Given the description of an element on the screen output the (x, y) to click on. 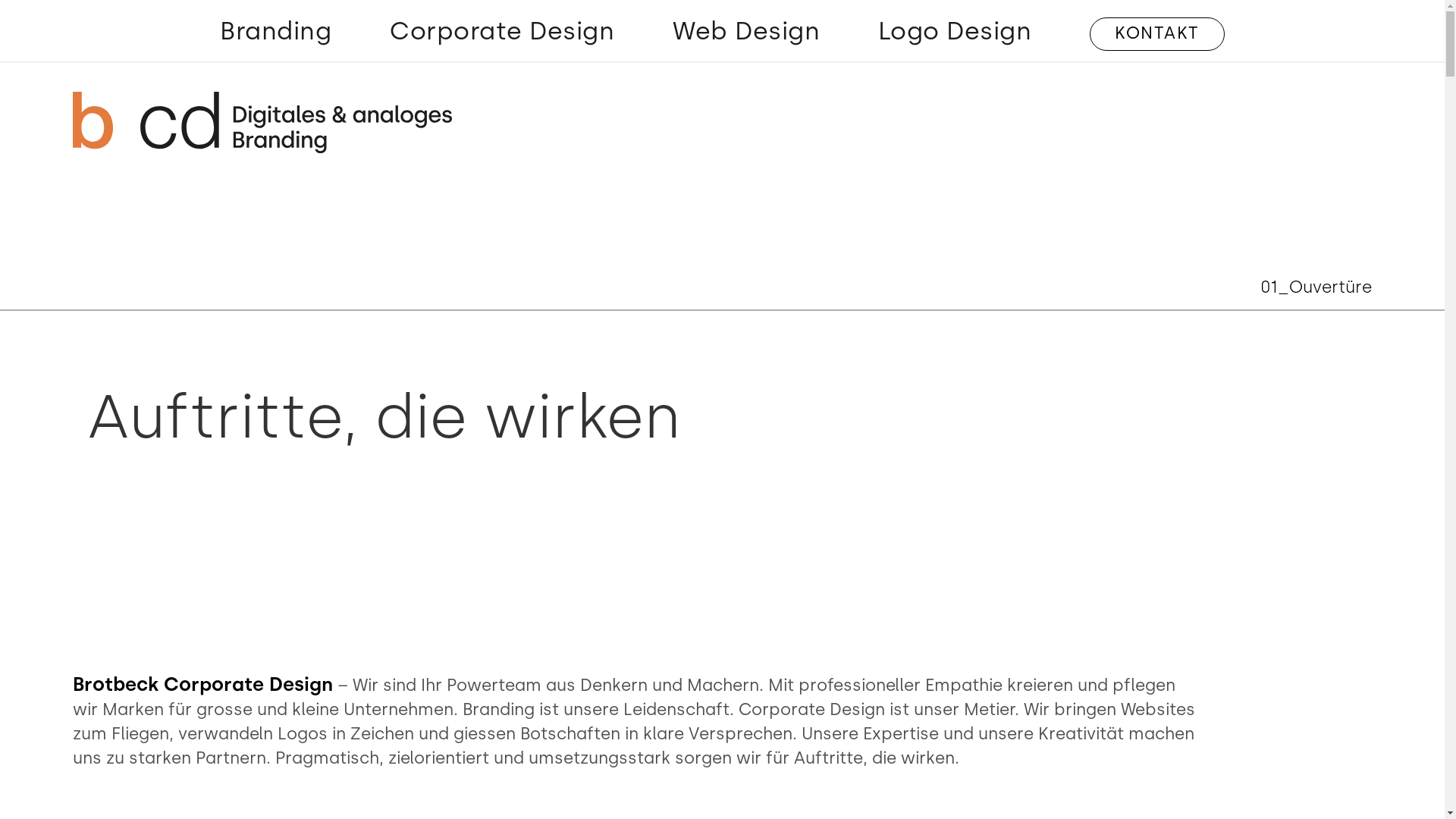
Logo Design Element type: text (955, 33)
Branding Element type: text (275, 33)
Corporate Design Element type: text (501, 33)
Web Design Element type: text (745, 33)
KONTAKT Element type: text (1156, 33)
